Given the description of an element on the screen output the (x, y) to click on. 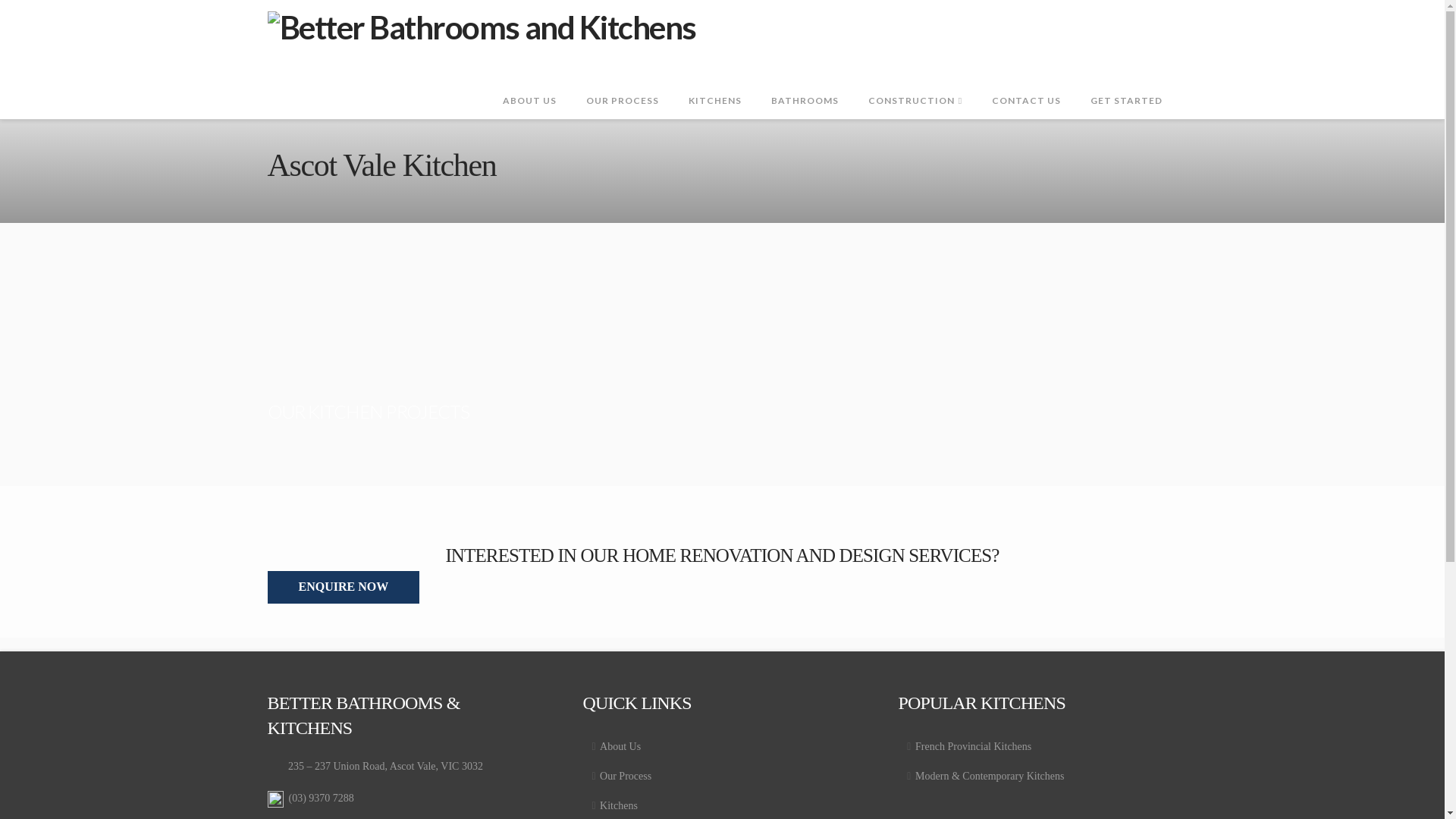
CONSTRUCTION Element type: text (914, 84)
Our Process Element type: text (721, 775)
ABOUT US Element type: text (529, 84)
French Provincial Kitchens Element type: text (1036, 745)
CONTACT US Element type: text (1025, 84)
BATHROOMS Element type: text (804, 84)
(03) 9370 7288 Element type: text (320, 797)
About Us Element type: text (721, 745)
Modern & Contemporary Kitchens Element type: text (1036, 775)
OUR PROCESS Element type: text (622, 84)
GET STARTED Element type: text (1125, 84)
KITCHENS Element type: text (714, 84)
ENQUIRE NOW Element type: text (342, 587)
